Given the description of an element on the screen output the (x, y) to click on. 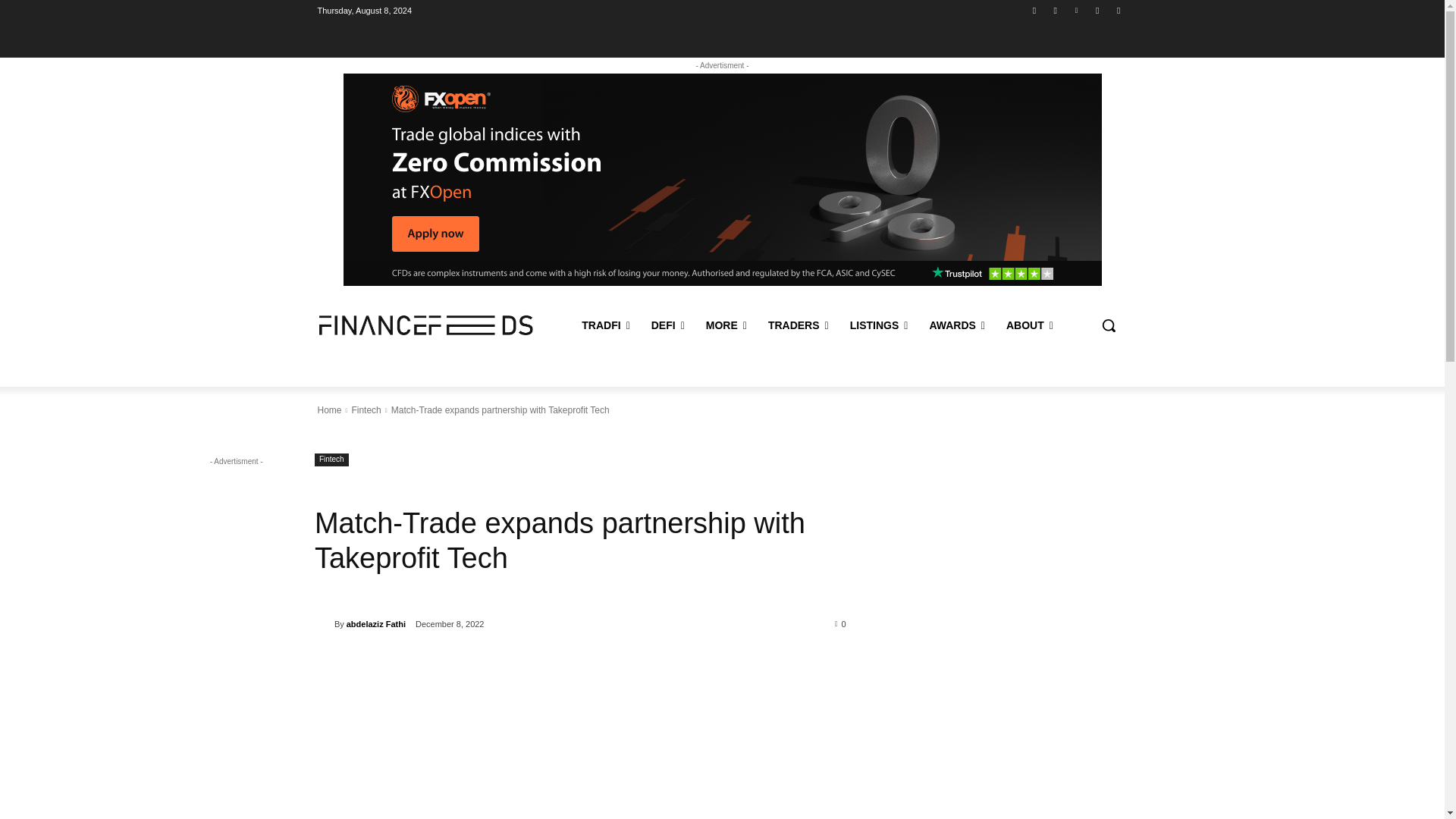
Twitter (1117, 9)
Linkedin (1075, 9)
View all posts in Fintech (365, 409)
Facebook (1034, 9)
Youtube (1055, 9)
Rss (1097, 9)
